Given the description of an element on the screen output the (x, y) to click on. 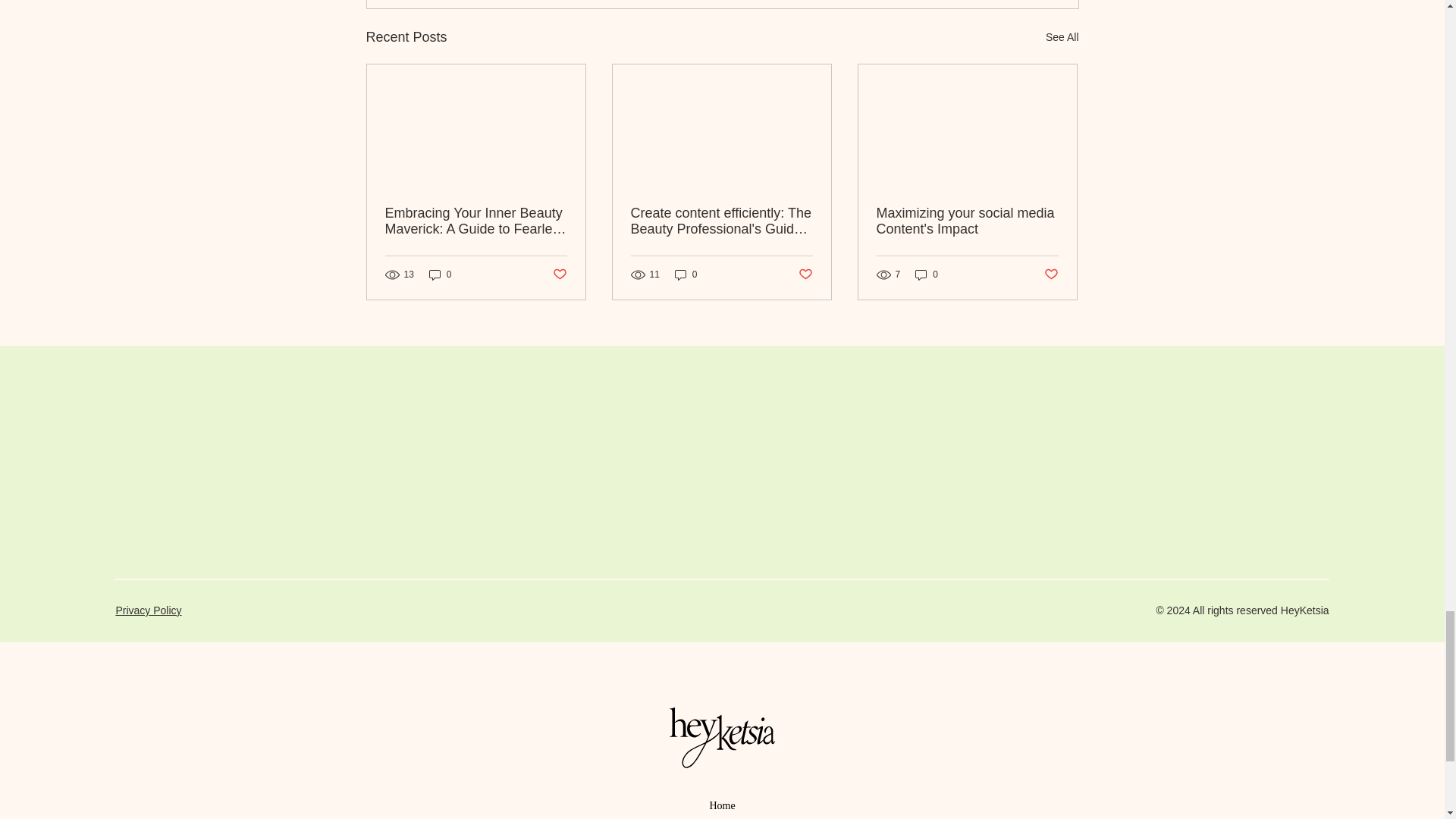
Privacy Policy (147, 610)
Post not marked as liked (558, 274)
0 (926, 274)
Post not marked as liked (804, 274)
See All (1061, 37)
Post not marked as liked (1050, 274)
0 (440, 274)
0 (685, 274)
Maximizing your social media Content's Impact (967, 221)
